Given the description of an element on the screen output the (x, y) to click on. 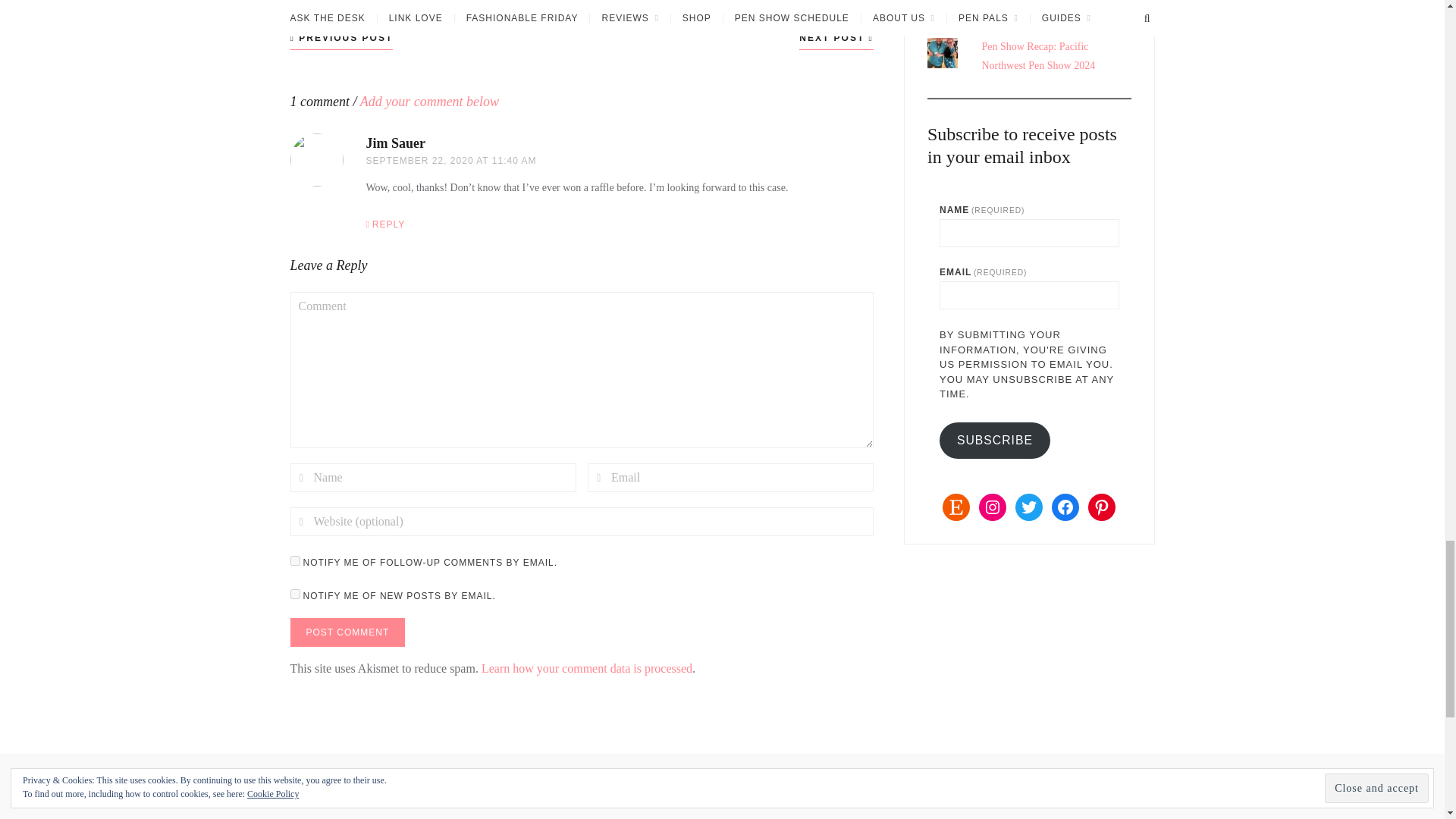
subscribe (294, 593)
Post Comment (346, 632)
subscribe (294, 560)
